Given the description of an element on the screen output the (x, y) to click on. 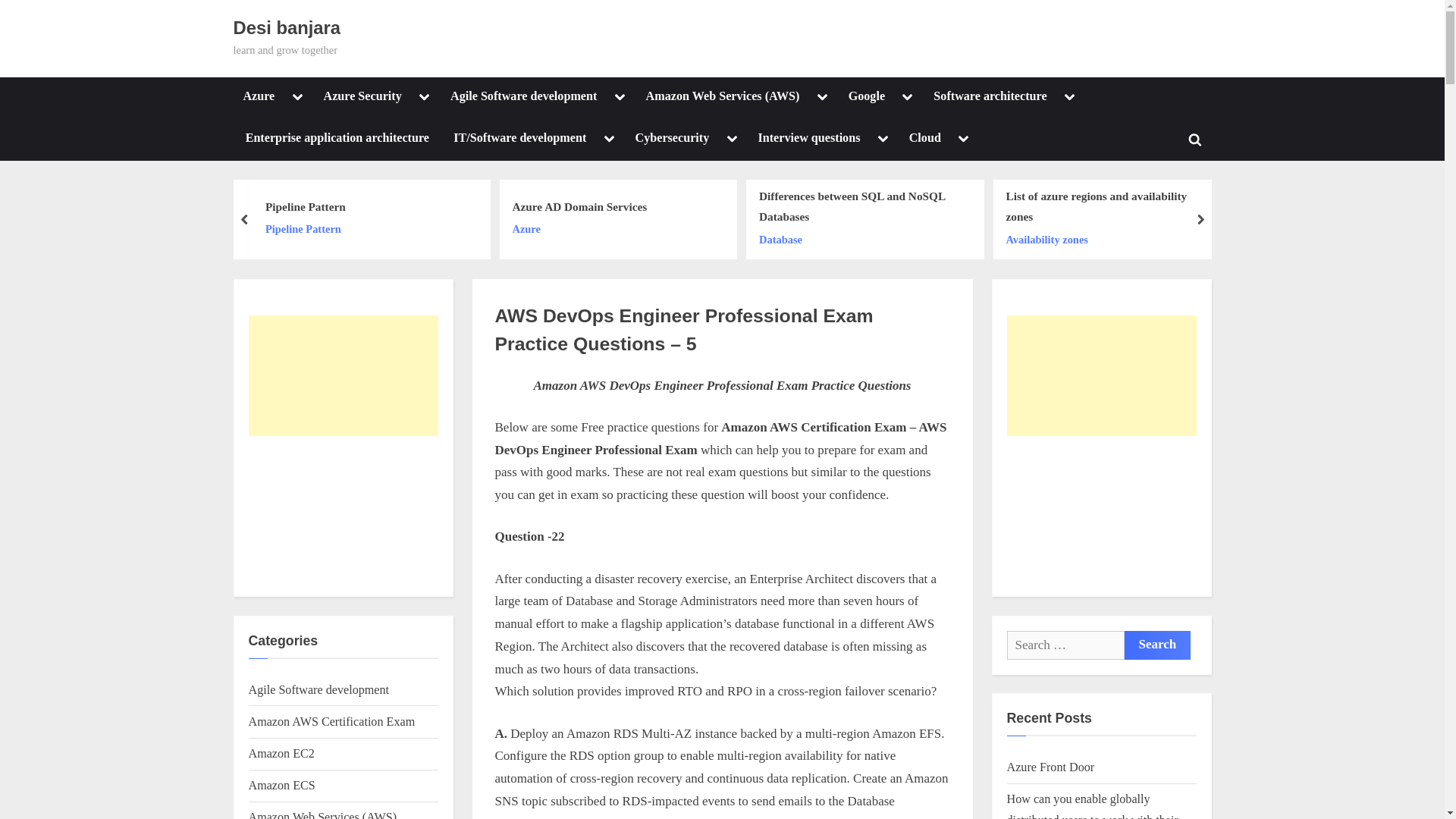
Azure Security (363, 97)
Advertisement (1101, 514)
Toggle sub-menu (296, 97)
Toggle sub-menu (424, 97)
Advertisement (343, 514)
Search (1157, 645)
Desi banjara (286, 27)
Azure (258, 97)
Search (1157, 645)
